Given the description of an element on the screen output the (x, y) to click on. 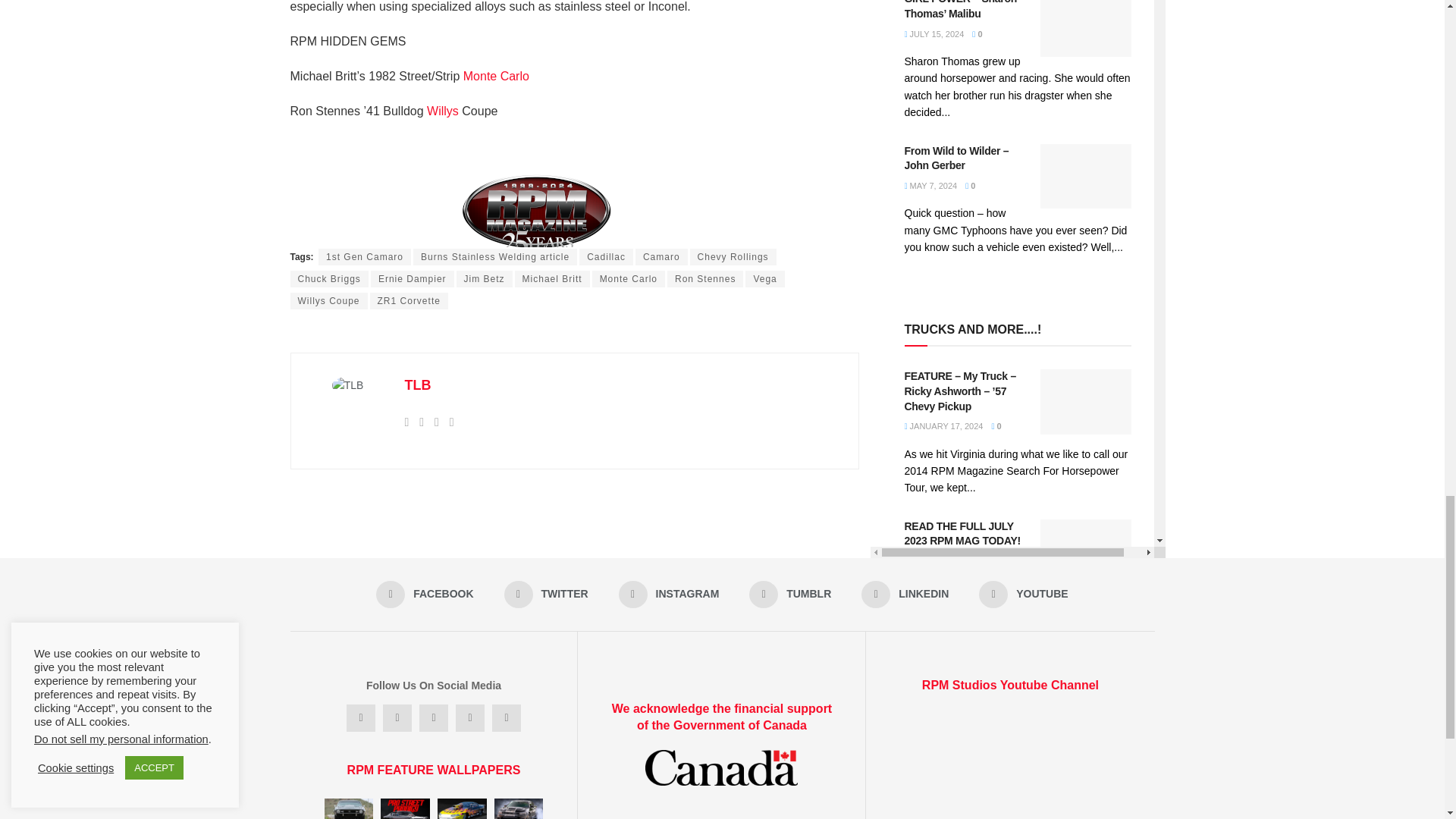
YouTube video player (1010, 764)
